Given the description of an element on the screen output the (x, y) to click on. 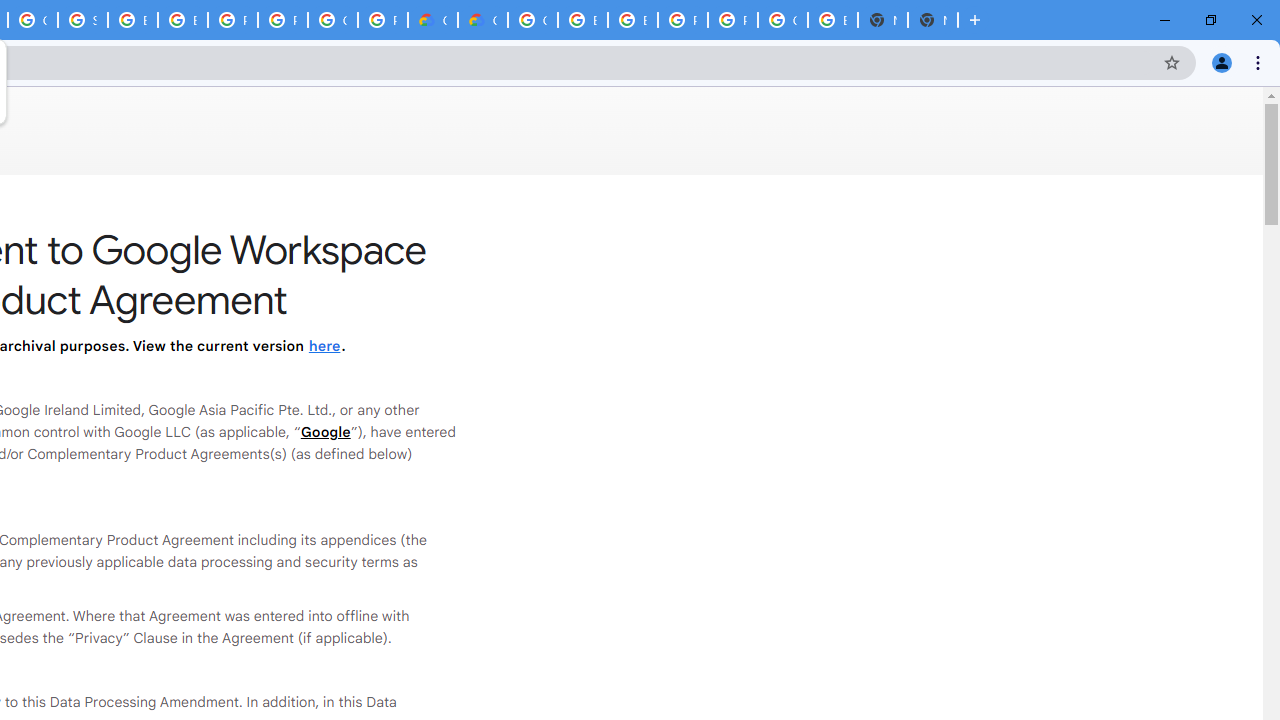
here (324, 345)
Google Cloud Estimate Summary (483, 20)
New Tab (932, 20)
Customer Care | Google Cloud (433, 20)
Google Cloud Platform (782, 20)
Google Cloud Platform (533, 20)
Browse Chrome as a guest - Computer - Google Chrome Help (132, 20)
